Given the description of an element on the screen output the (x, y) to click on. 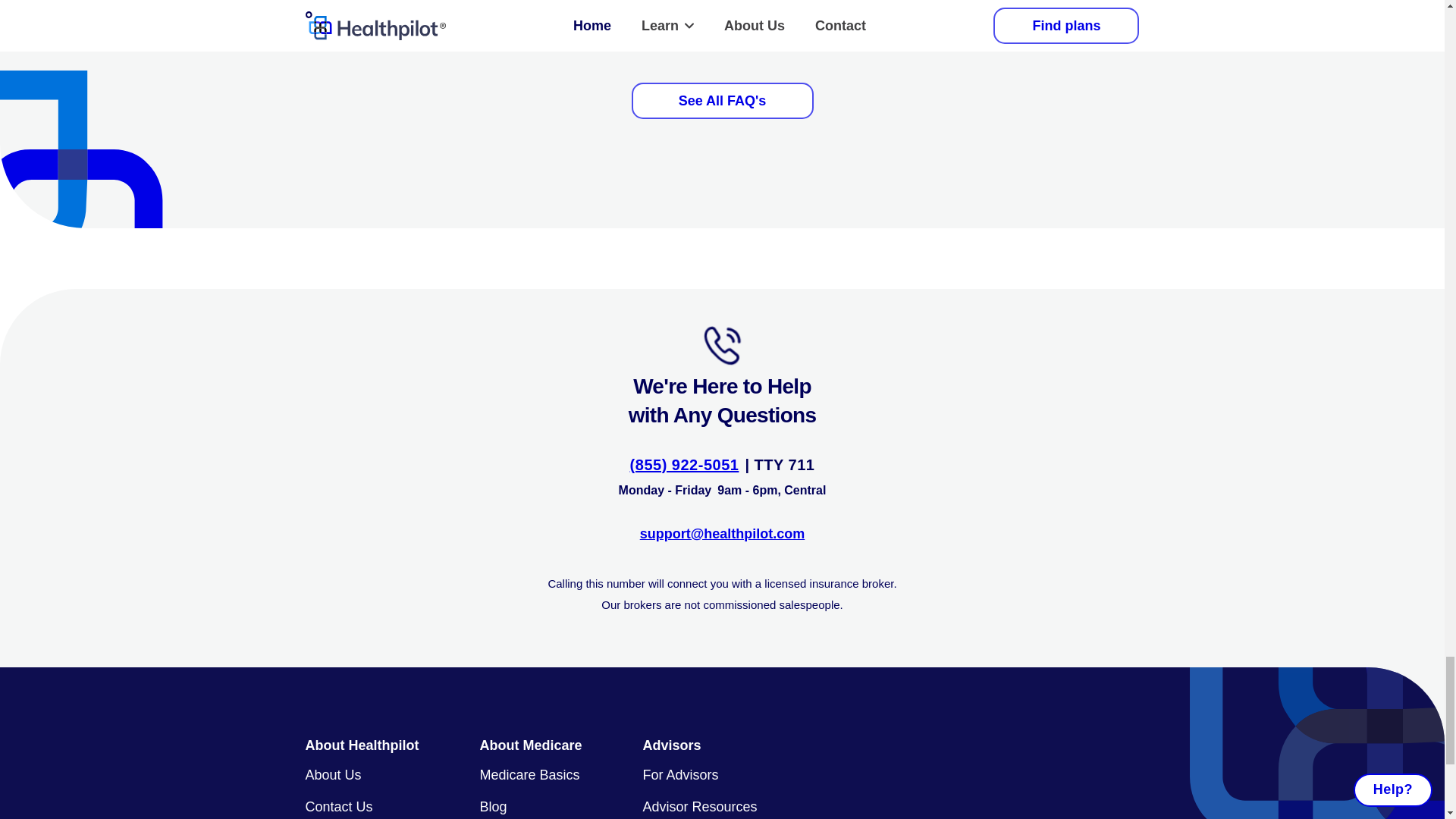
Medicare Basics (529, 774)
For Advisors (681, 774)
See All FAQ's (721, 100)
Contact Us (338, 806)
When am I eligible to enroll into a Medicare plan? (721, 21)
About Us (332, 774)
Blog (492, 806)
Advisor Resources (700, 806)
